Given the description of an element on the screen output the (x, y) to click on. 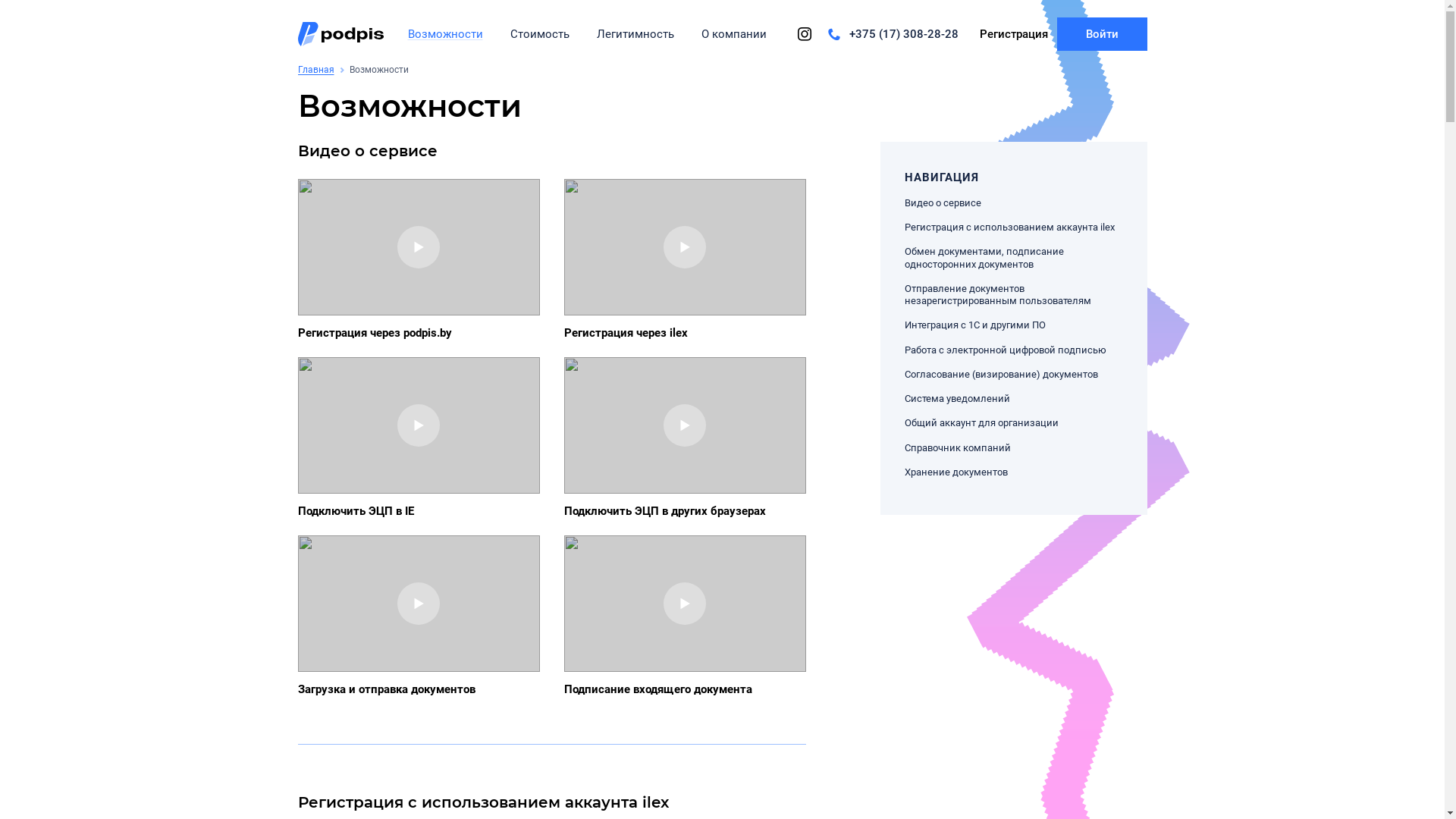
+375 (17) 308-28-28 Element type: text (891, 34)
Podpis.by Element type: text (339, 33)
